Given the description of an element on the screen output the (x, y) to click on. 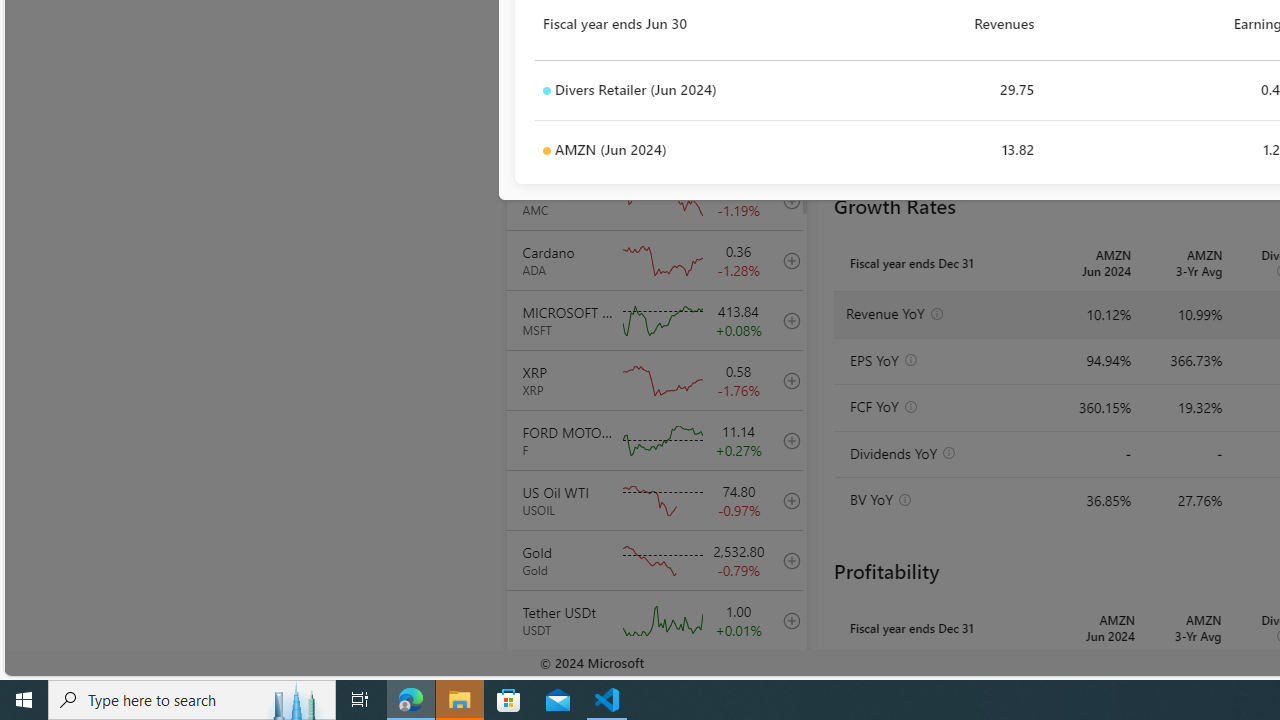
Class: symbolDot-DS-EntryPoint1-2 (546, 151)
add to your watchlist (786, 680)
